Given the description of an element on the screen output the (x, y) to click on. 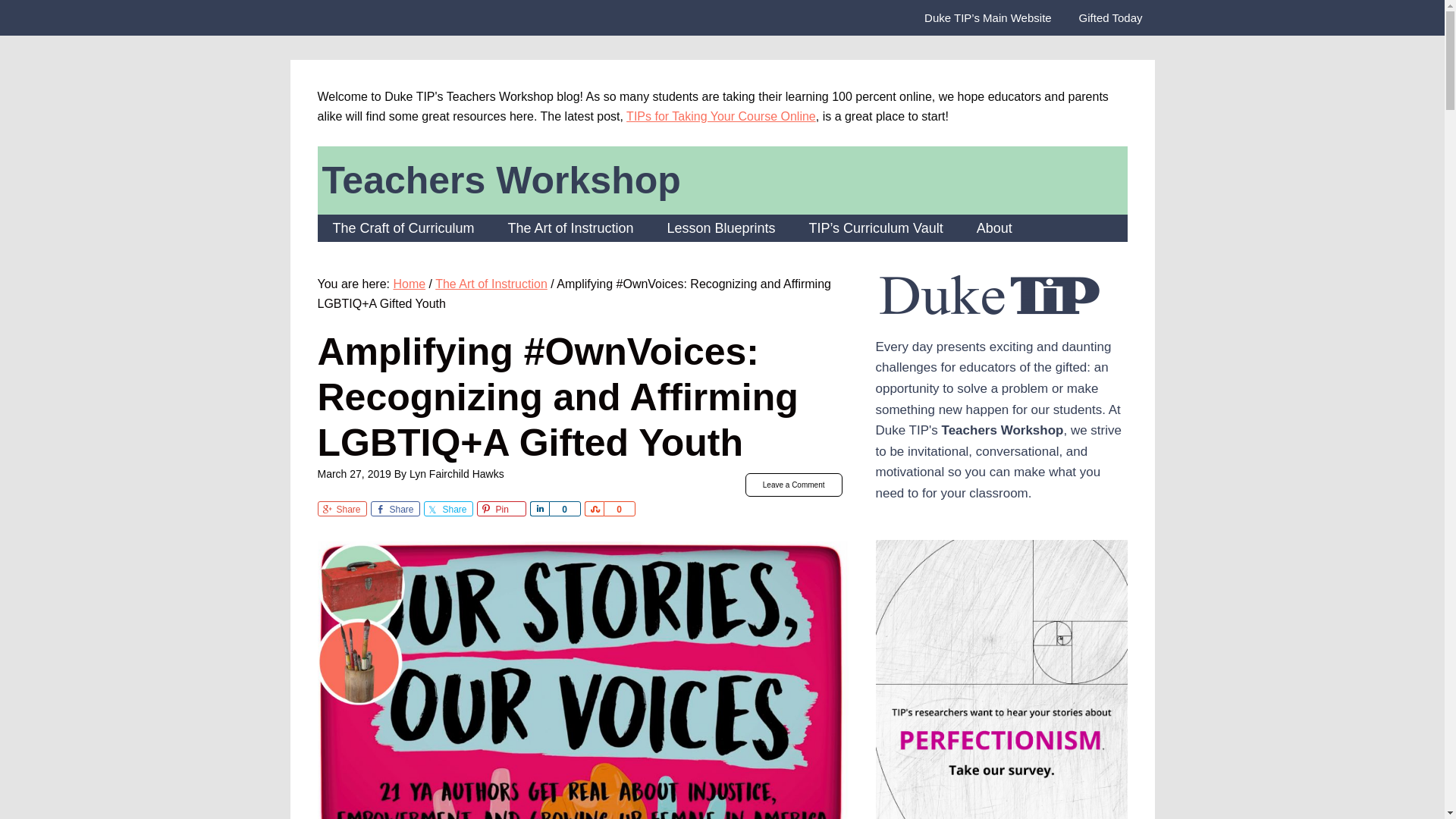
Share (538, 508)
Share (592, 508)
Lyn Fairchild Hawks (456, 473)
Share (394, 508)
Pin (500, 508)
Leave a Comment (794, 485)
Share (447, 508)
The Craft of Curriculum (403, 227)
Lesson Blueprints (720, 227)
Home (409, 283)
TIPs for Taking Your Course Online (720, 115)
The Art of Instruction (569, 227)
Teachers Workshop (500, 180)
0 (564, 508)
About (993, 227)
